Given the description of an element on the screen output the (x, y) to click on. 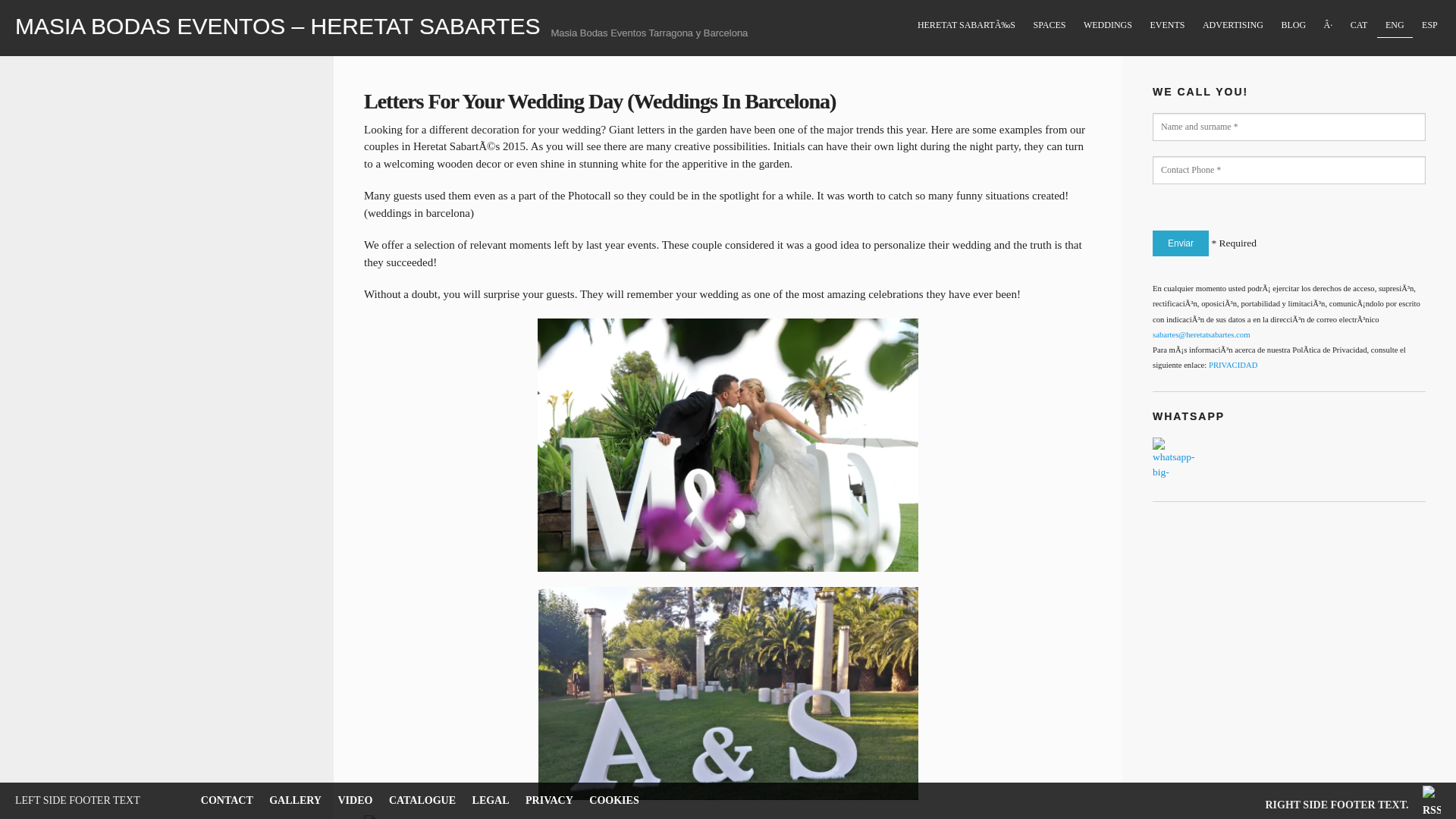
ADVERTISING (1232, 24)
EVENTS (1167, 24)
Enviar (1180, 243)
ESP (1429, 24)
CAT (1357, 24)
SPACES (1049, 25)
PRIVACIDAD (1232, 365)
BLOG (1293, 24)
WEDDINGS (1108, 25)
Enviar (1180, 243)
